Given the description of an element on the screen output the (x, y) to click on. 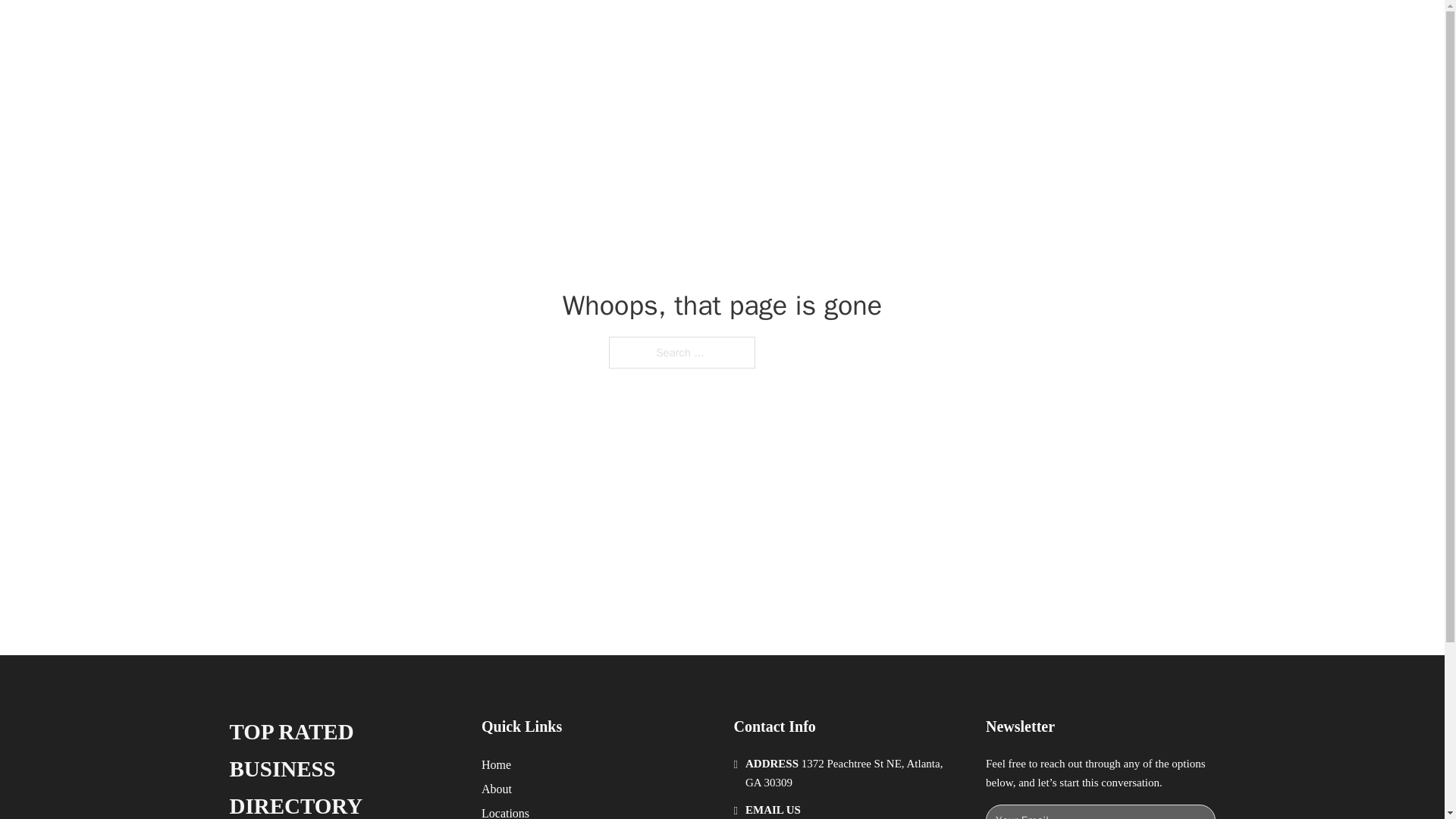
HOME (919, 29)
TOP RATED BUSINESS DIRECTORY (343, 766)
About (496, 788)
TOP RATED BUSINESS DIRECTORY (475, 28)
LOCATIONS (990, 29)
Home (496, 764)
Locations (505, 811)
